Given the description of an element on the screen output the (x, y) to click on. 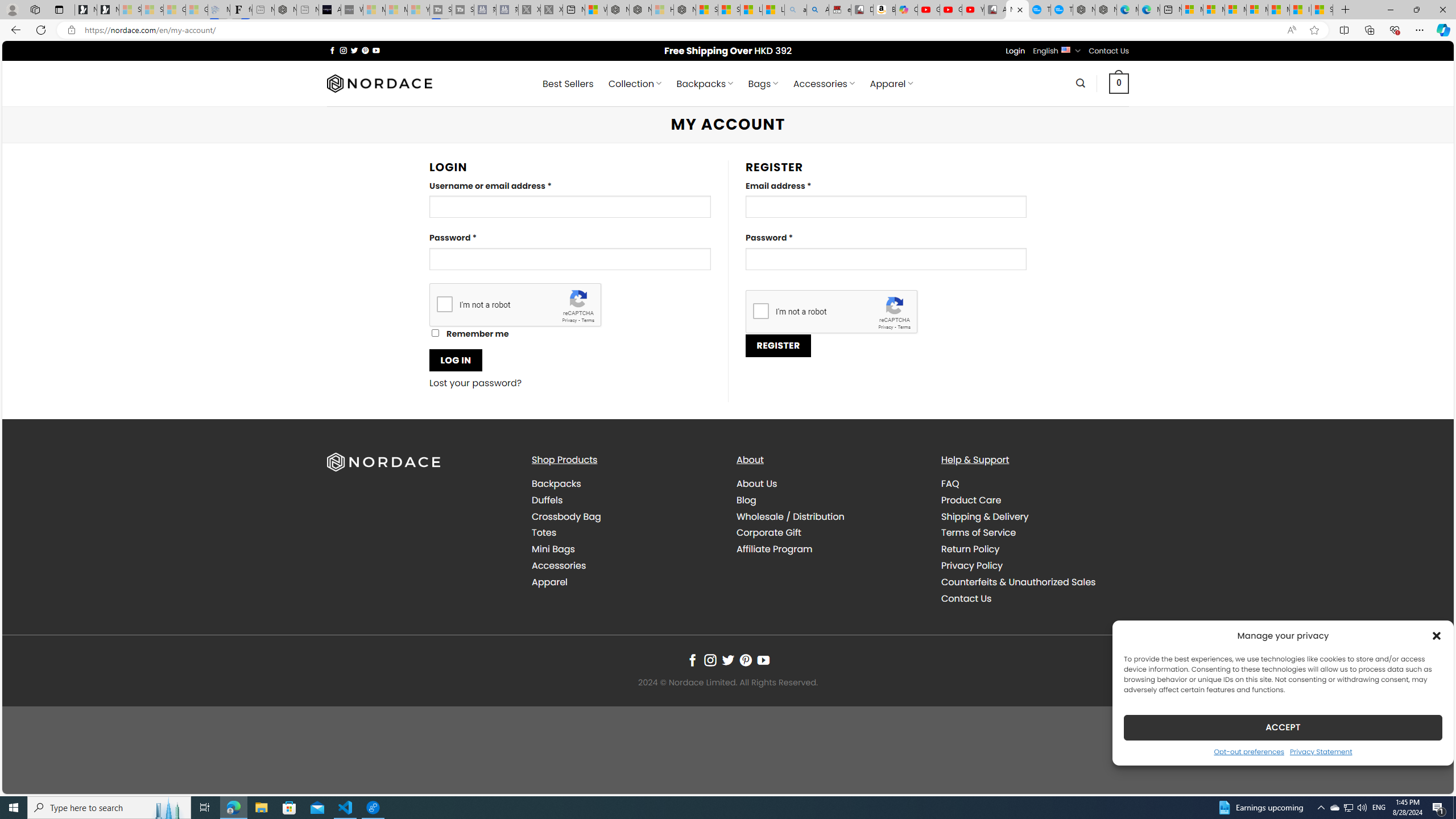
English (1065, 49)
REGISTER (777, 345)
Opt-out preferences (1249, 750)
Accessories (558, 565)
LOG IN (455, 359)
Accessories (625, 565)
Counterfeits & Unauthorized Sales (1034, 581)
FAQ (1034, 483)
Backpacks (555, 483)
